Given the description of an element on the screen output the (x, y) to click on. 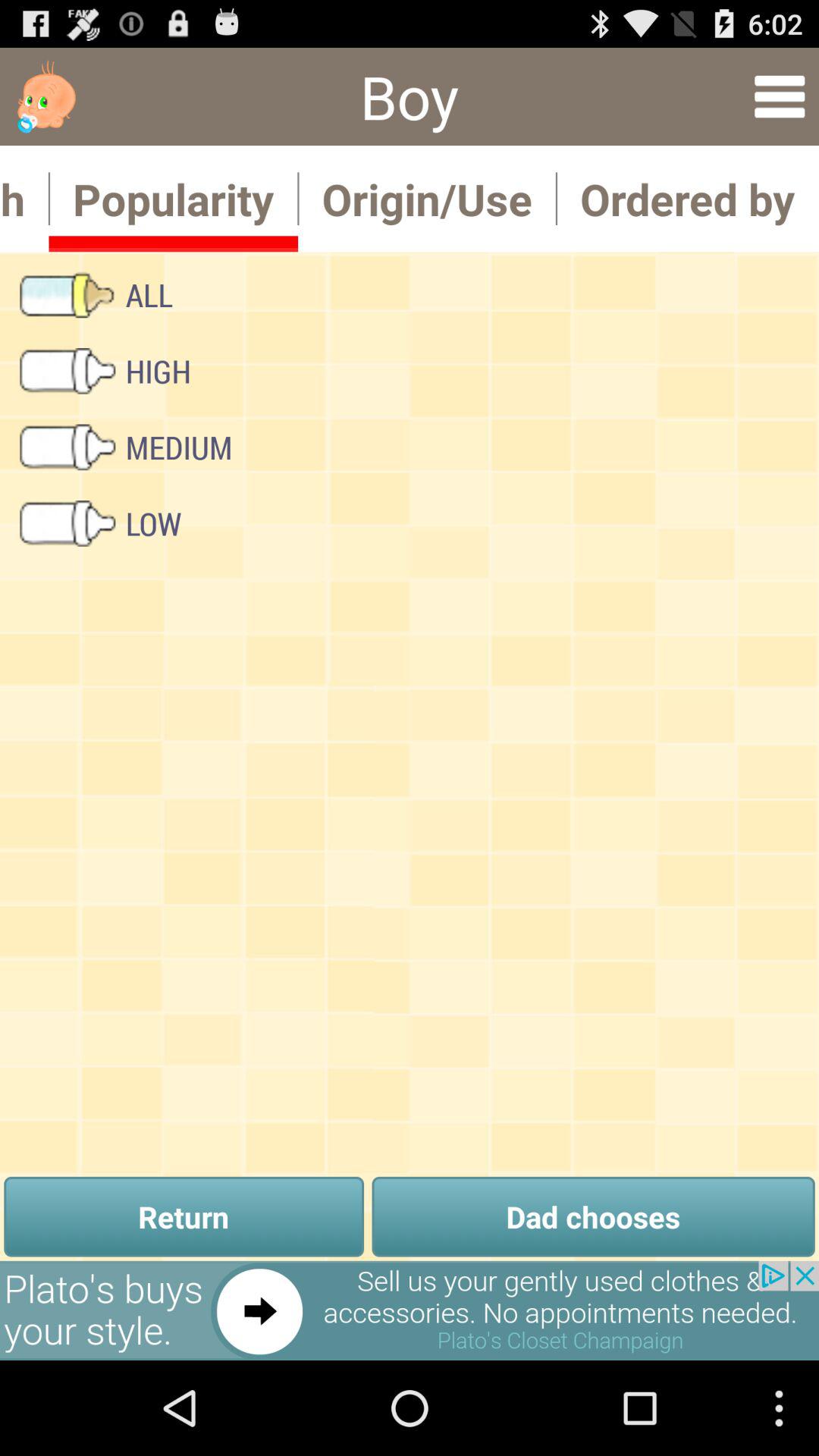
click on the first option below the text popularity (95, 294)
